Given the description of an element on the screen output the (x, y) to click on. 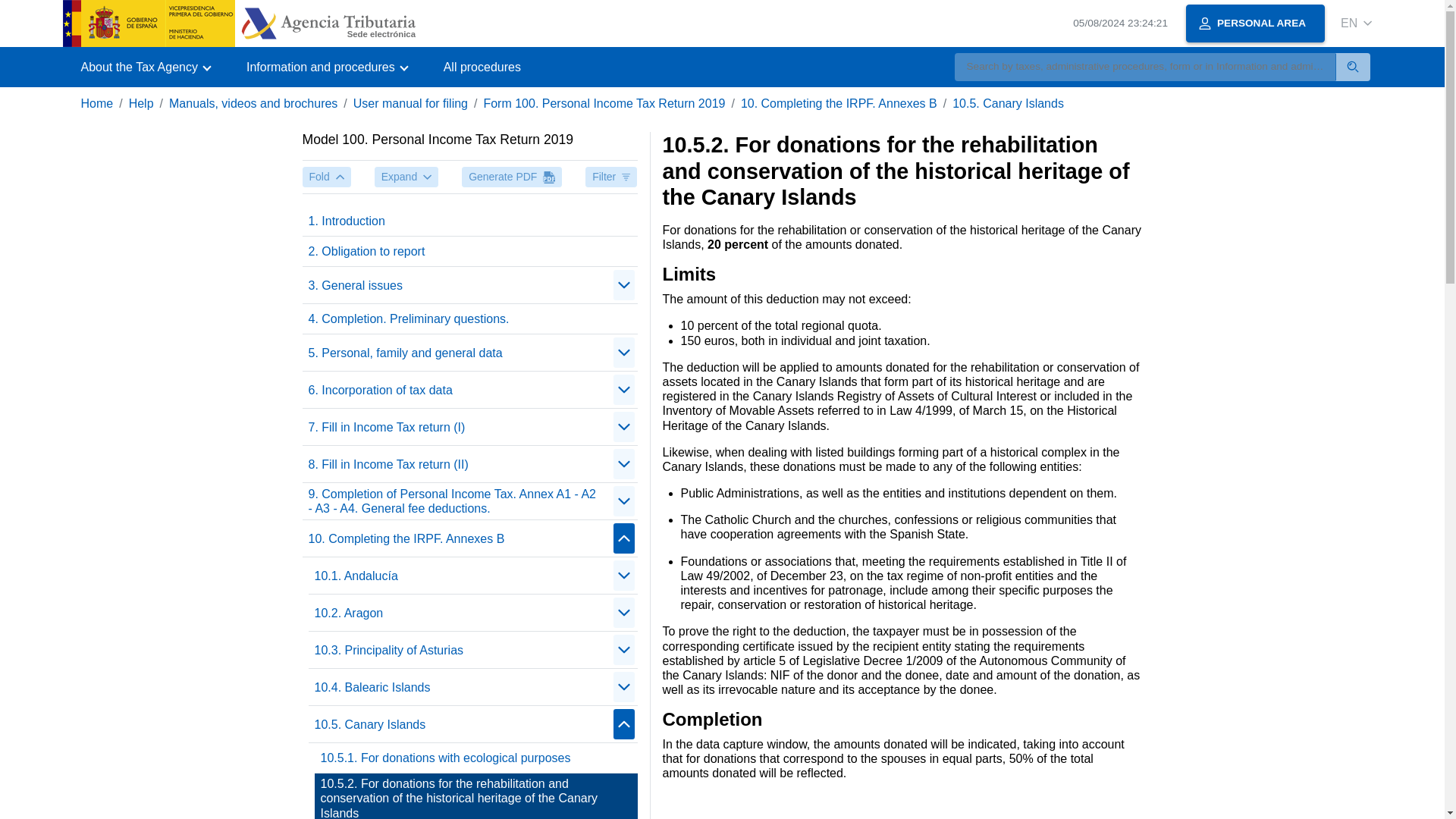
Information and procedures (326, 66)
Search (1352, 66)
PERSONAL AREA (1255, 23)
EN (1355, 22)
About the Tax Agency (144, 66)
Search (1352, 66)
Homepage (238, 23)
Current language (1348, 22)
